Given the description of an element on the screen output the (x, y) to click on. 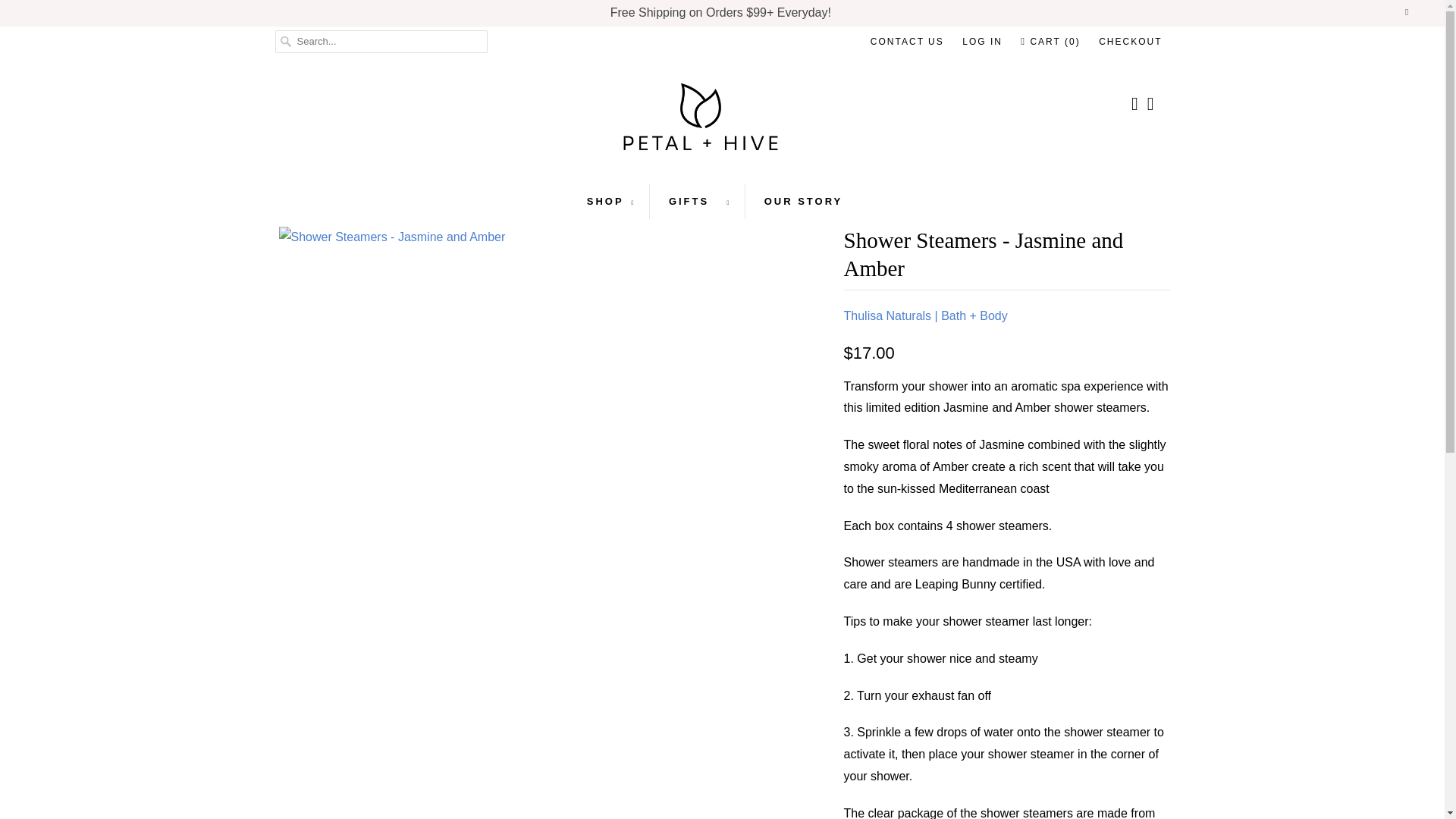
CONTACT US (906, 41)
CHECKOUT (1130, 41)
LOG IN (982, 41)
